Given the description of an element on the screen output the (x, y) to click on. 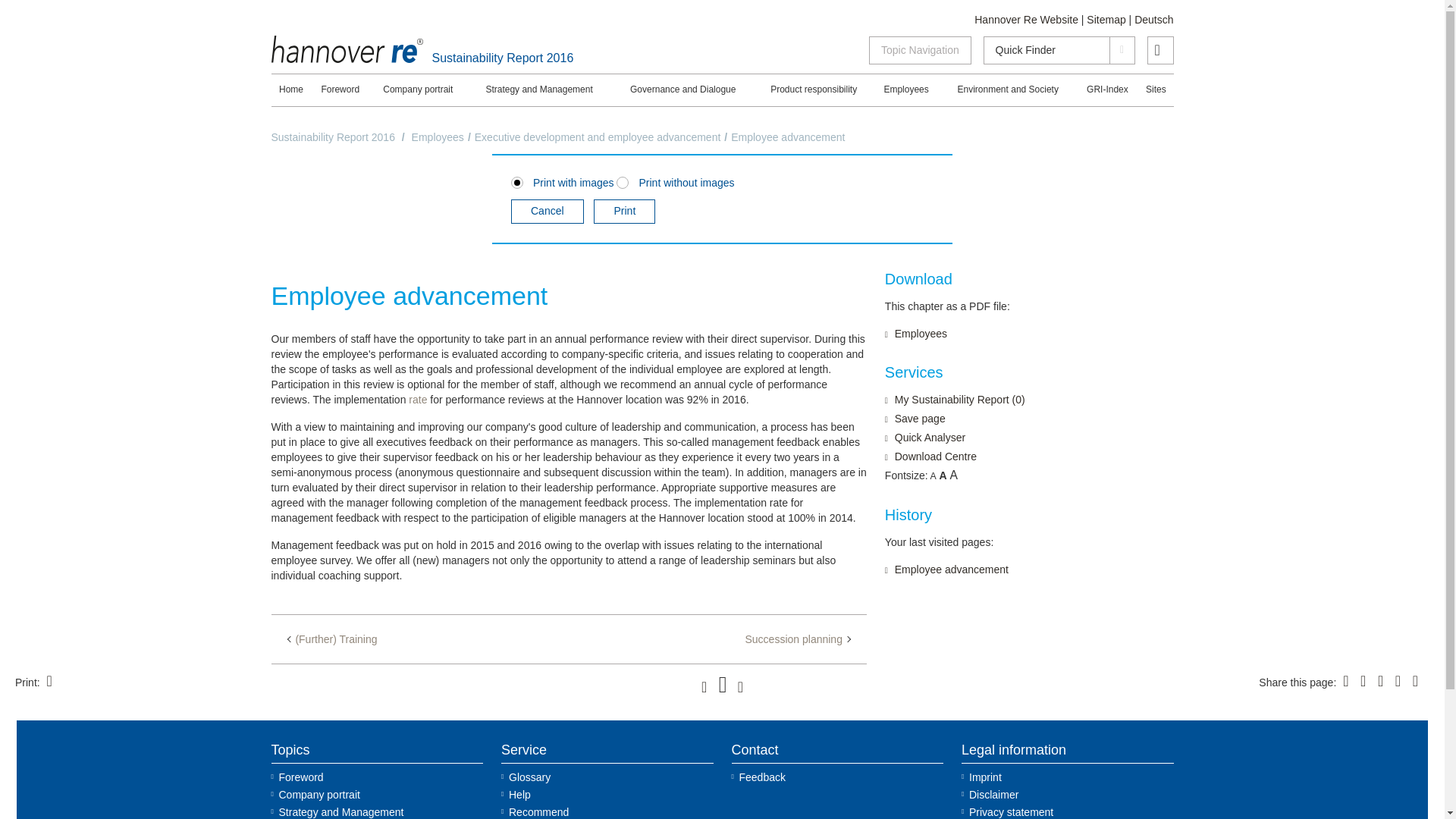
Cancel printing (547, 211)
Print (624, 211)
Succession planning (796, 639)
Deutsch (1153, 19)
